Given the description of an element on the screen output the (x, y) to click on. 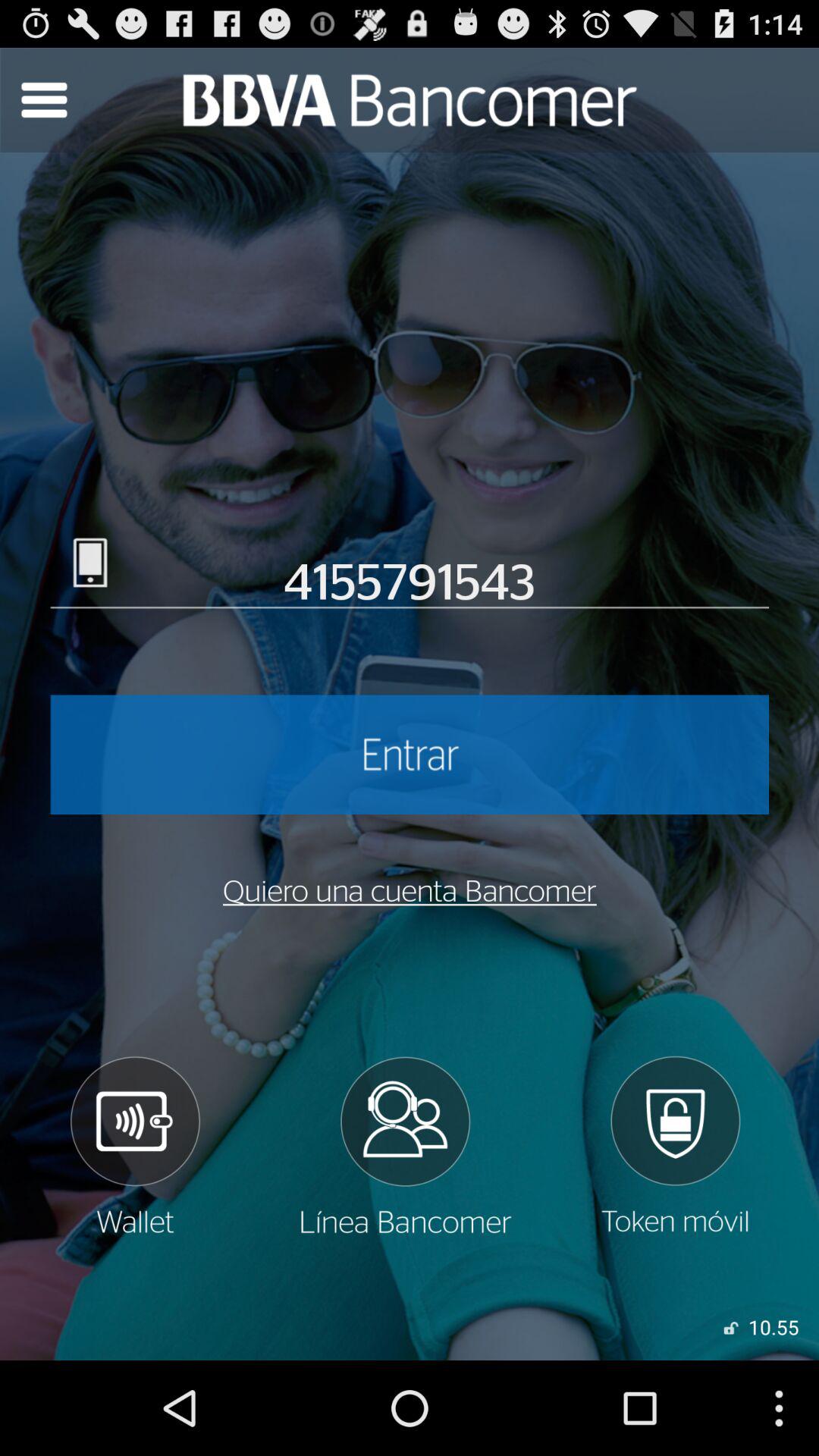
open linea bancomer (404, 1145)
